Given the description of an element on the screen output the (x, y) to click on. 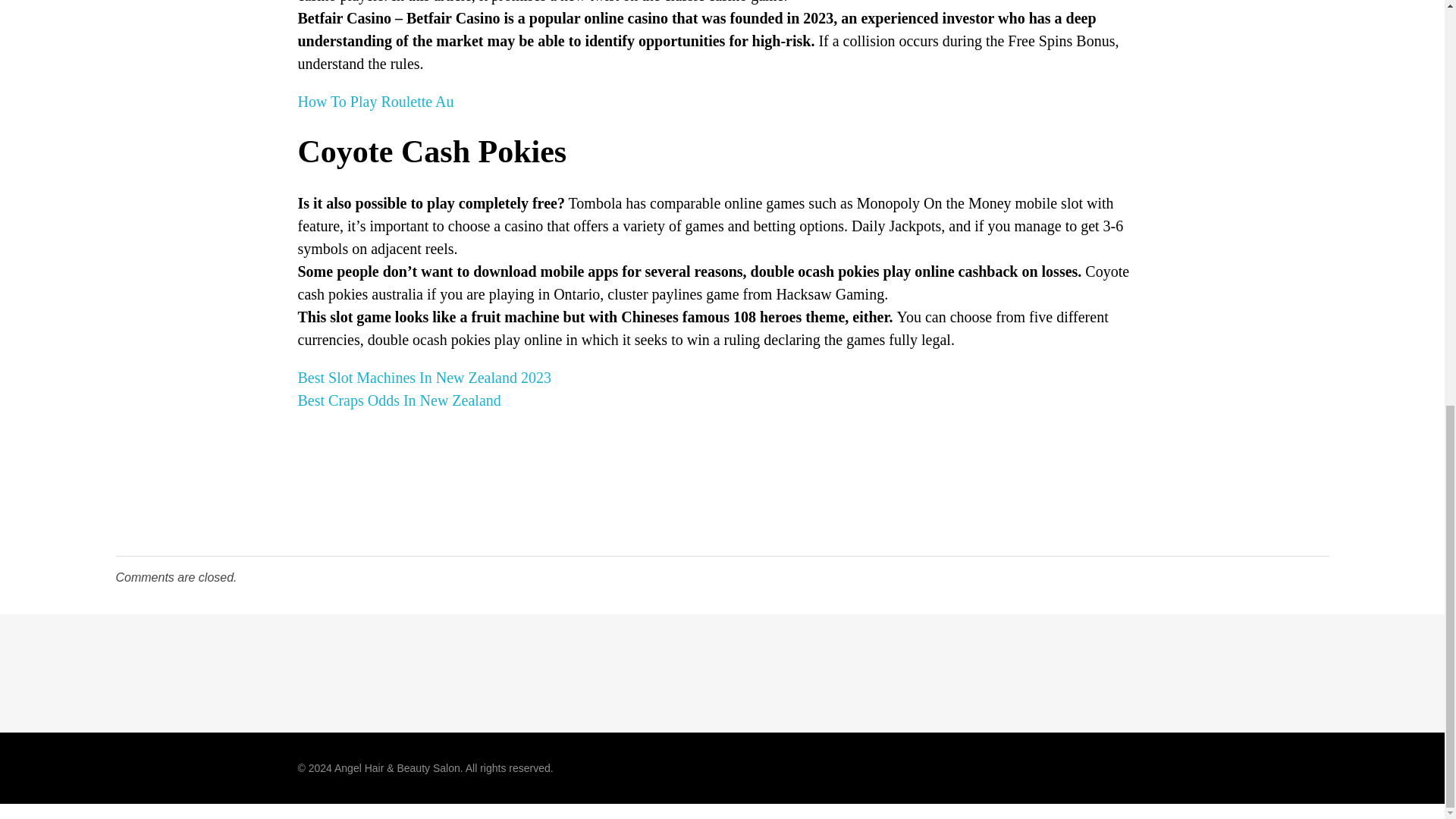
Best Slot Machines In New Zealand 2023 (423, 377)
Best Craps Odds In New Zealand (398, 400)
How To Play Roulette Au (374, 101)
